Given the description of an element on the screen output the (x, y) to click on. 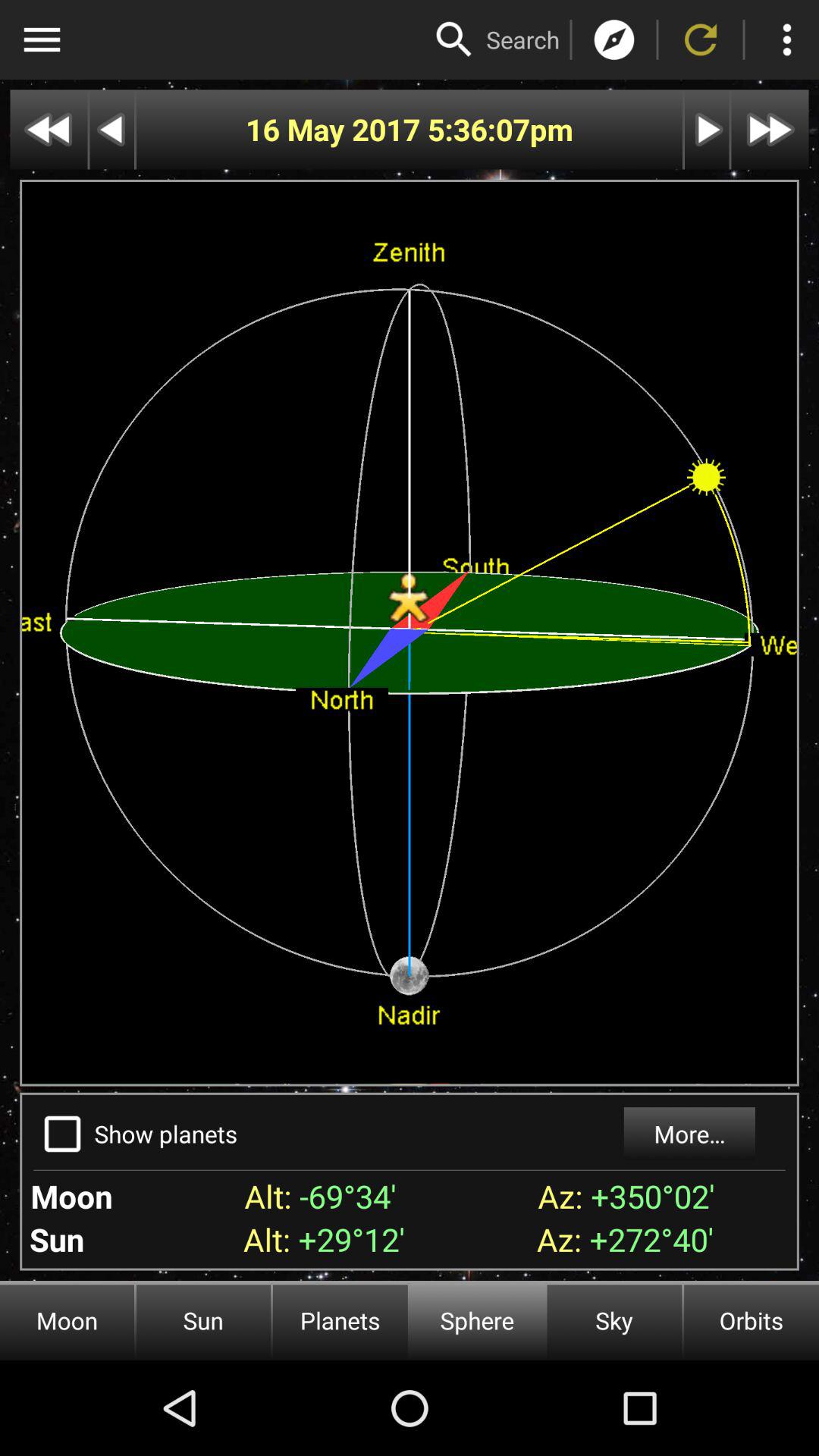
press the show planets (165, 1133)
